Given the description of an element on the screen output the (x, y) to click on. 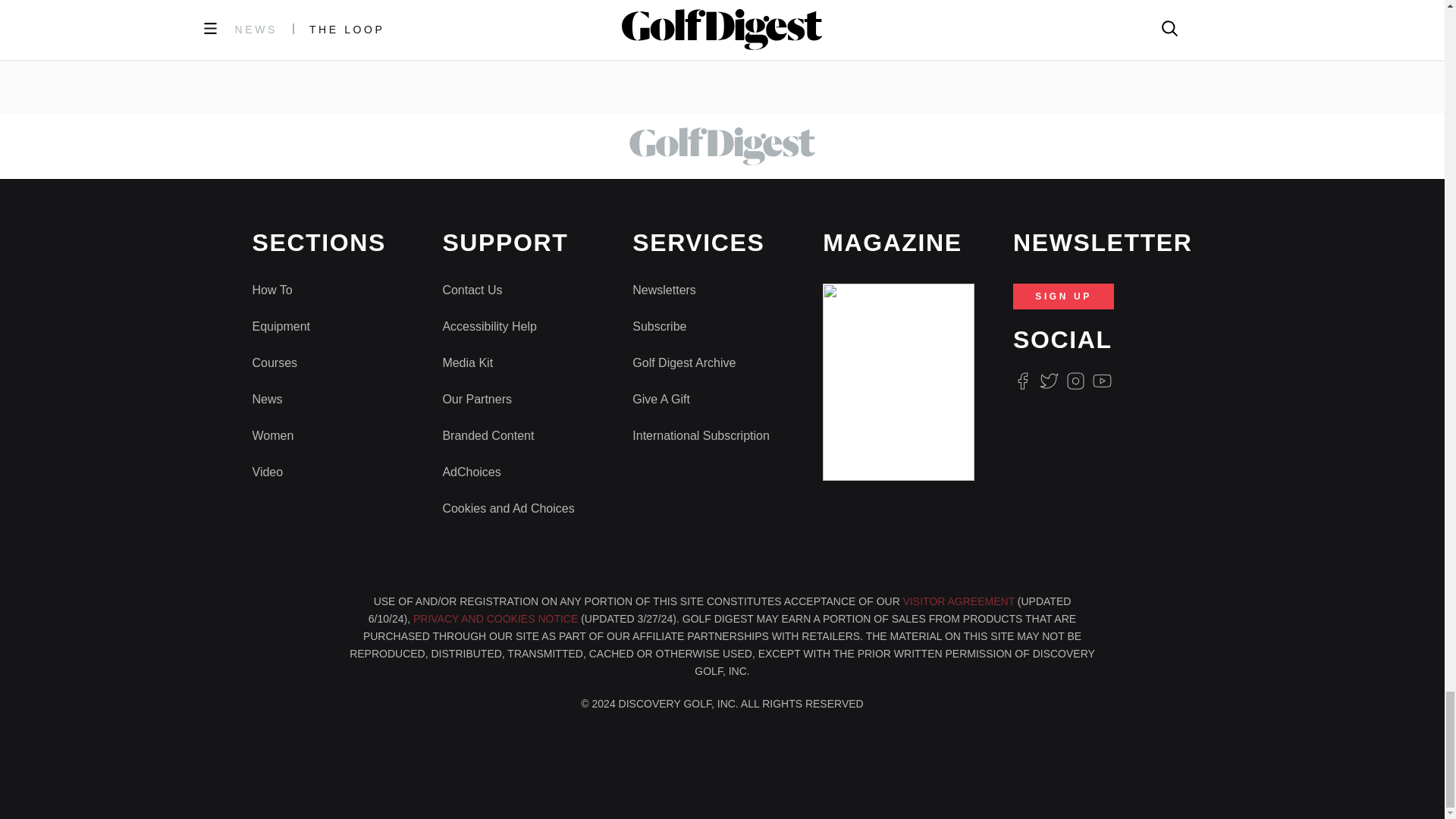
Twitter Logo (1048, 380)
Instagram Logo (1074, 380)
Facebook Logo (1022, 380)
Youtube Icon (1102, 380)
